Given the description of an element on the screen output the (x, y) to click on. 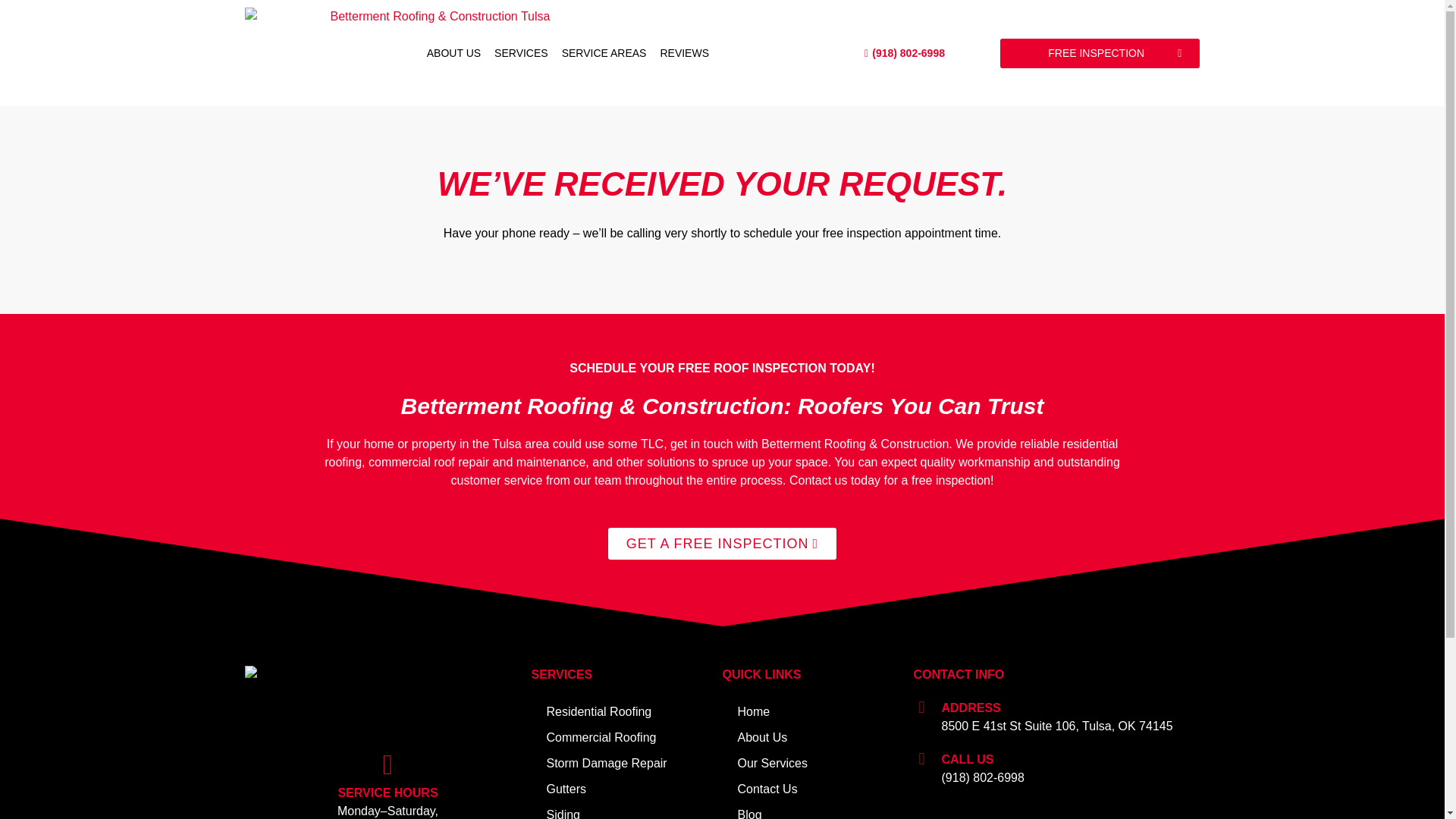
ABOUT US (453, 52)
